Given the description of an element on the screen output the (x, y) to click on. 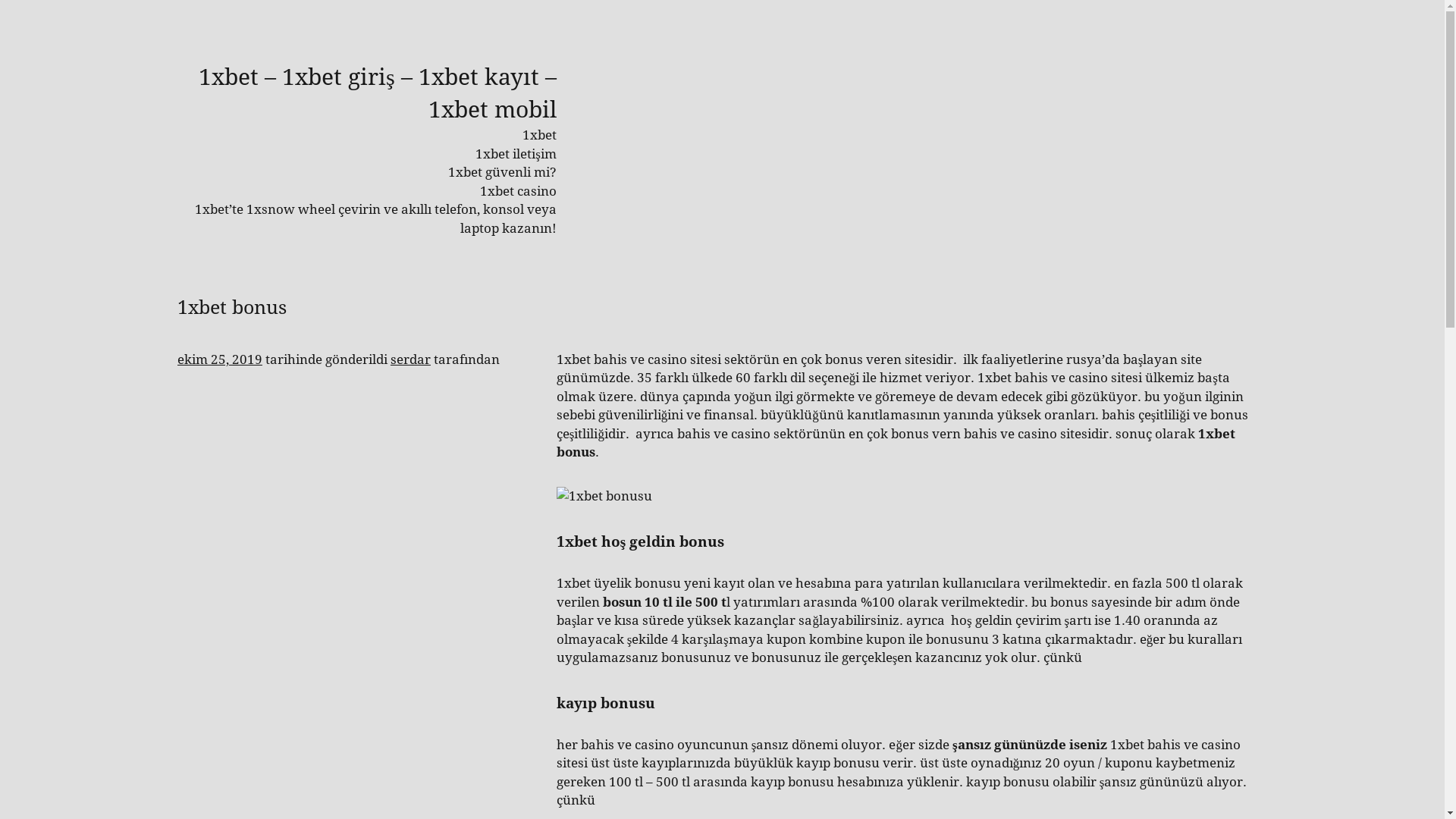
ekim 25, 2019 Element type: text (219, 359)
1xbet Element type: text (539, 134)
1xbet casino Element type: text (518, 191)
serdar Element type: text (410, 359)
